Given the description of an element on the screen output the (x, y) to click on. 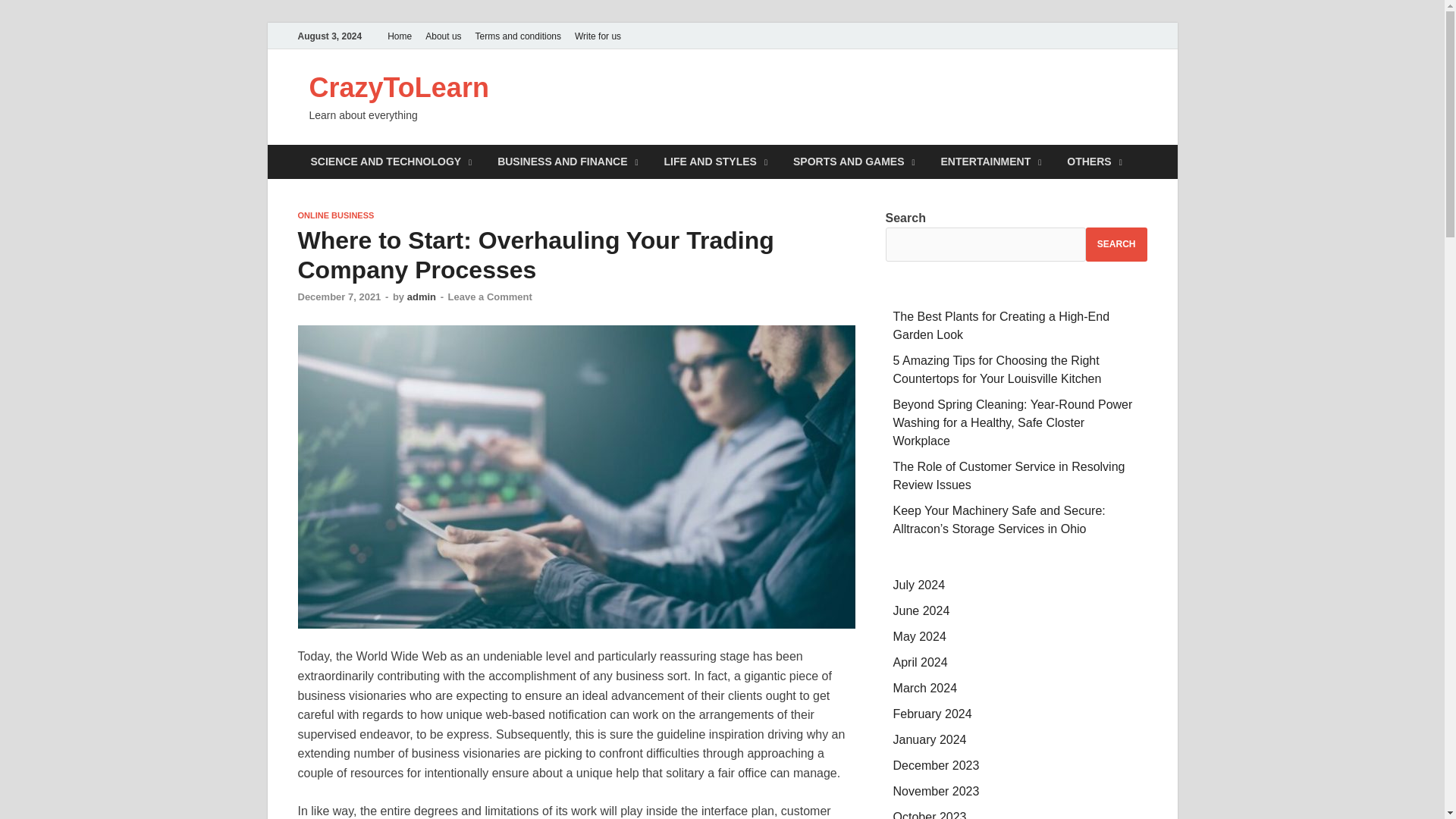
Home (399, 35)
LIFE AND STYLES (715, 161)
About us (443, 35)
BUSINESS AND FINANCE (567, 161)
Terms and conditions (517, 35)
SCIENCE AND TECHNOLOGY (390, 161)
Write for us (597, 35)
CrazyToLearn (398, 87)
